Given the description of an element on the screen output the (x, y) to click on. 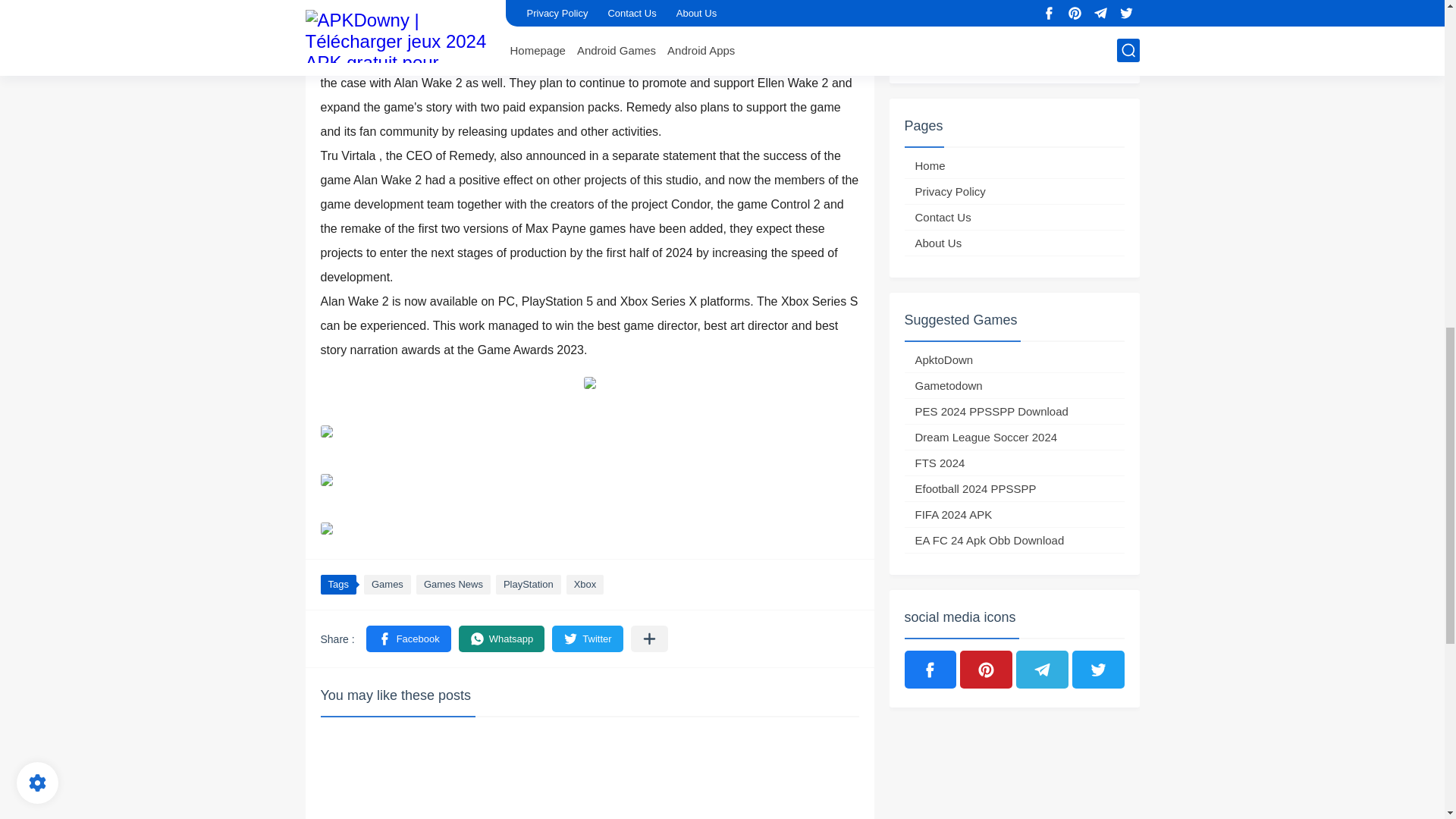
Games (387, 584)
Xbox (585, 584)
PlayStation (528, 584)
Games News (453, 584)
